Given the description of an element on the screen output the (x, y) to click on. 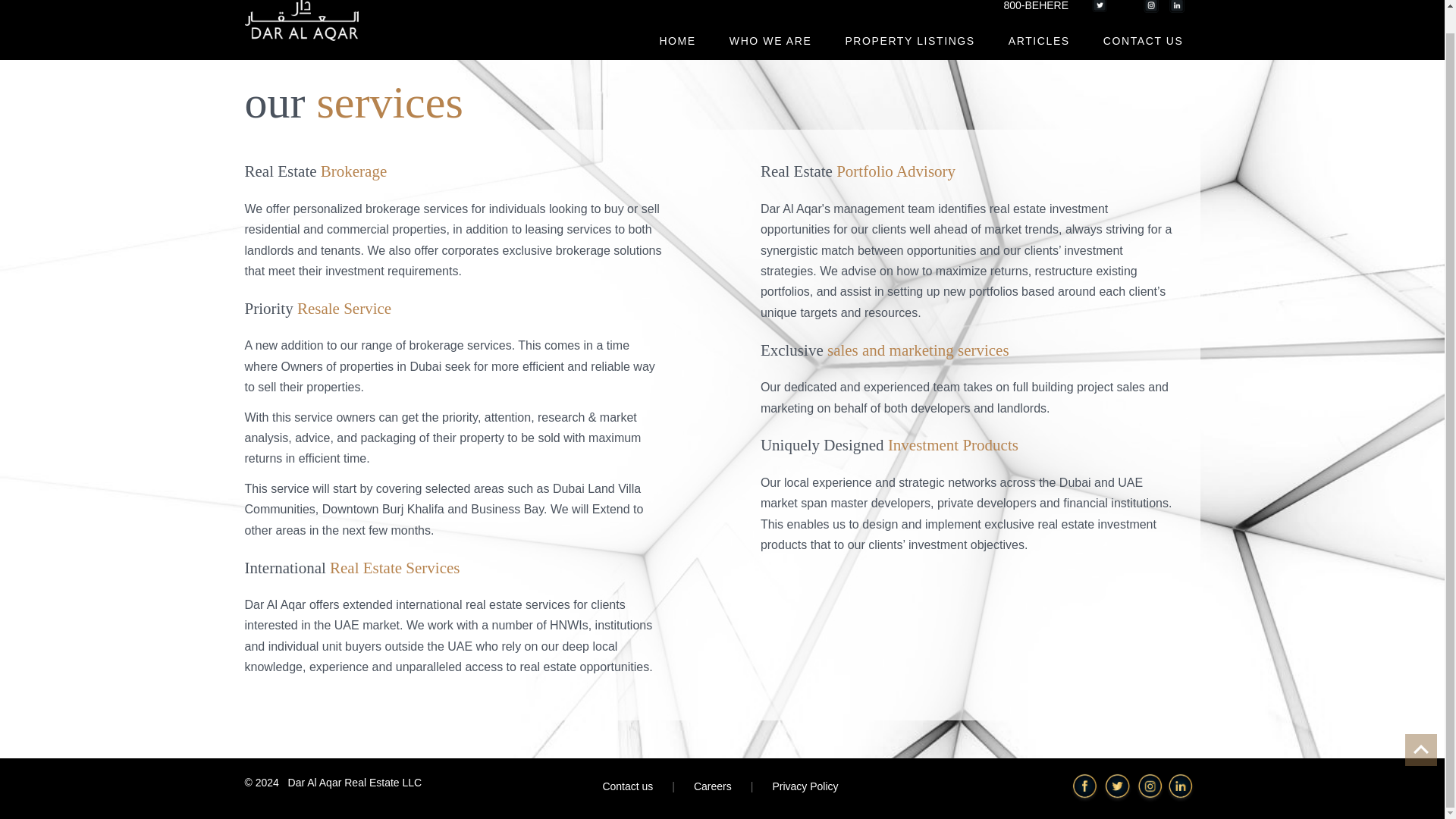
HOME (676, 40)
800 (1026, 9)
ARTICLES (1038, 40)
Careers (712, 786)
CONTACT US (1142, 40)
Privacy Policy (804, 786)
WHO WE ARE (770, 40)
PROPERTY LISTINGS (909, 40)
Dar Al Aqar Real Estate LLC (355, 782)
Contact us (627, 786)
